Given the description of an element on the screen output the (x, y) to click on. 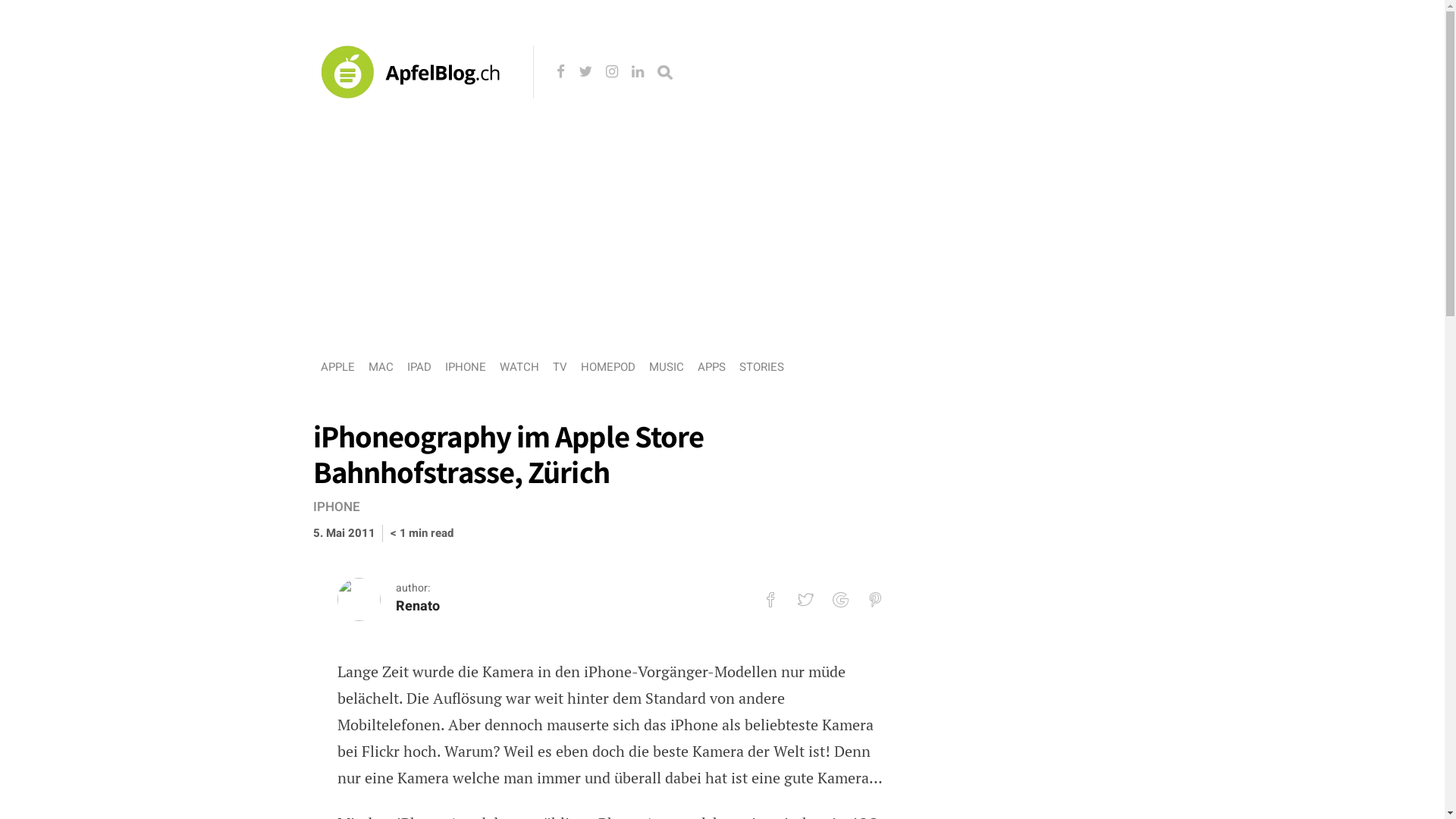
MAC Element type: text (380, 366)
APPS Element type: text (711, 366)
HOMEPOD Element type: text (607, 366)
STORIES Element type: text (760, 366)
ApfelBlog Element type: text (414, 118)
WATCH Element type: text (518, 366)
APPLE Element type: text (337, 366)
Advertisement Element type: hover (721, 228)
IPAD Element type: text (418, 366)
IPHONE Element type: text (464, 366)
IPHONE Element type: text (339, 506)
TV Element type: text (559, 366)
MUSIC Element type: text (666, 366)
Renato Element type: text (417, 606)
